Given the description of an element on the screen output the (x, y) to click on. 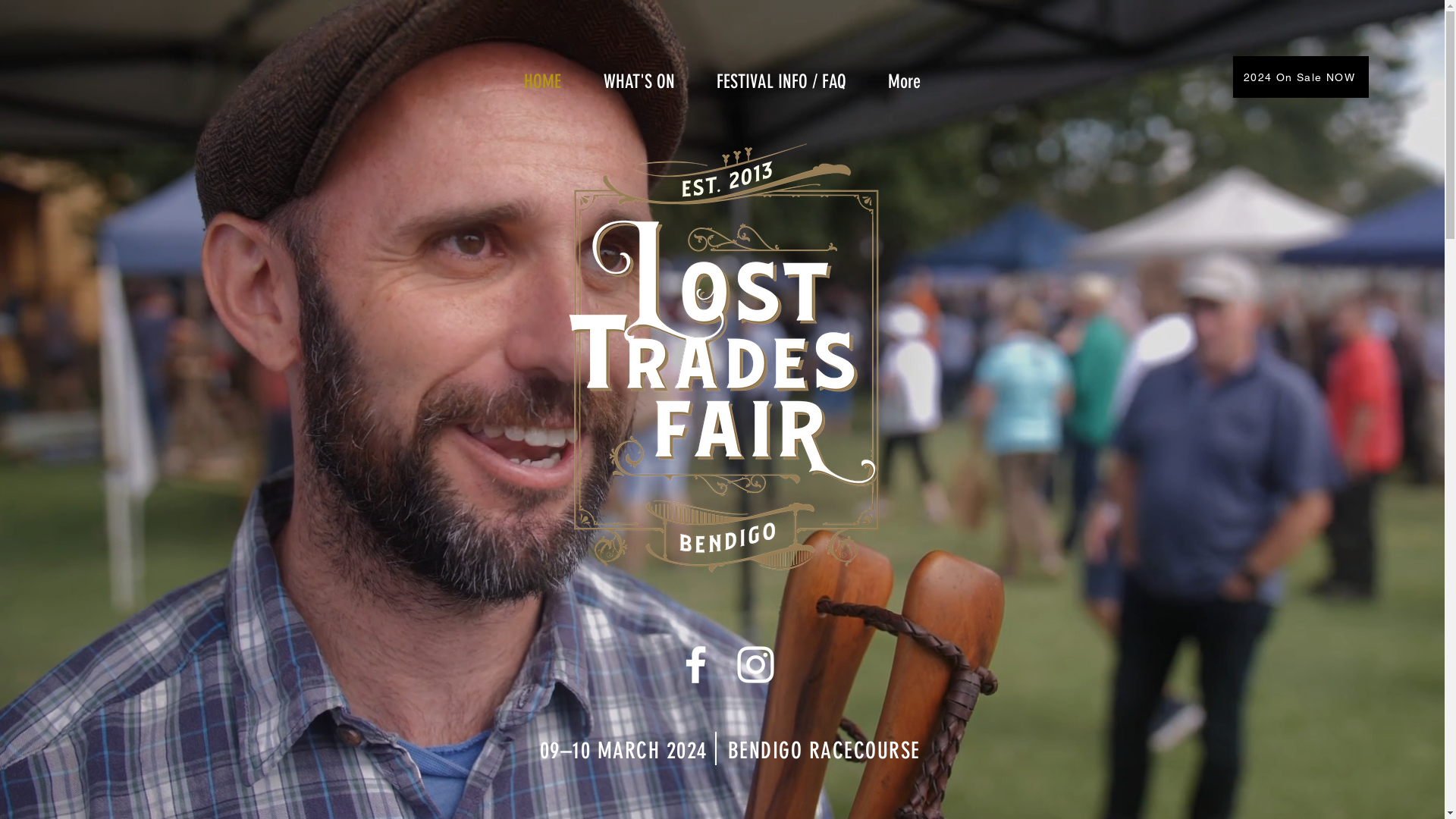
2024 On Sale NOW Element type: text (1300, 76)
FESTIVAL INFO / FAQ Element type: text (781, 81)
HOME Element type: text (541, 81)
WHAT'S ON Element type: text (639, 81)
